Given the description of an element on the screen output the (x, y) to click on. 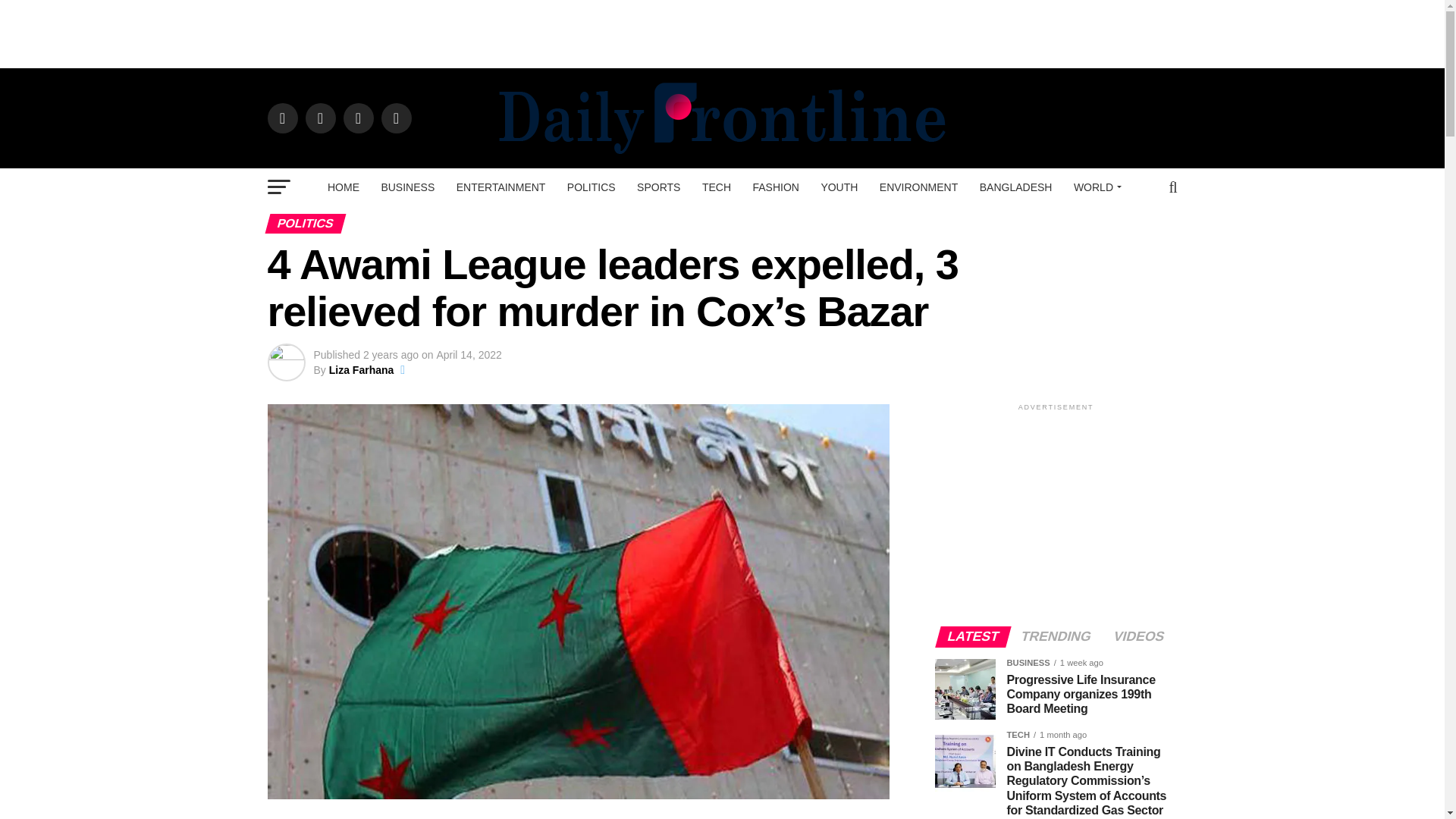
ENTERTAINMENT (500, 187)
HOME (343, 187)
BUSINESS (407, 187)
Advertisement (722, 33)
Posts by Liza Farhana (361, 369)
